Given the description of an element on the screen output the (x, y) to click on. 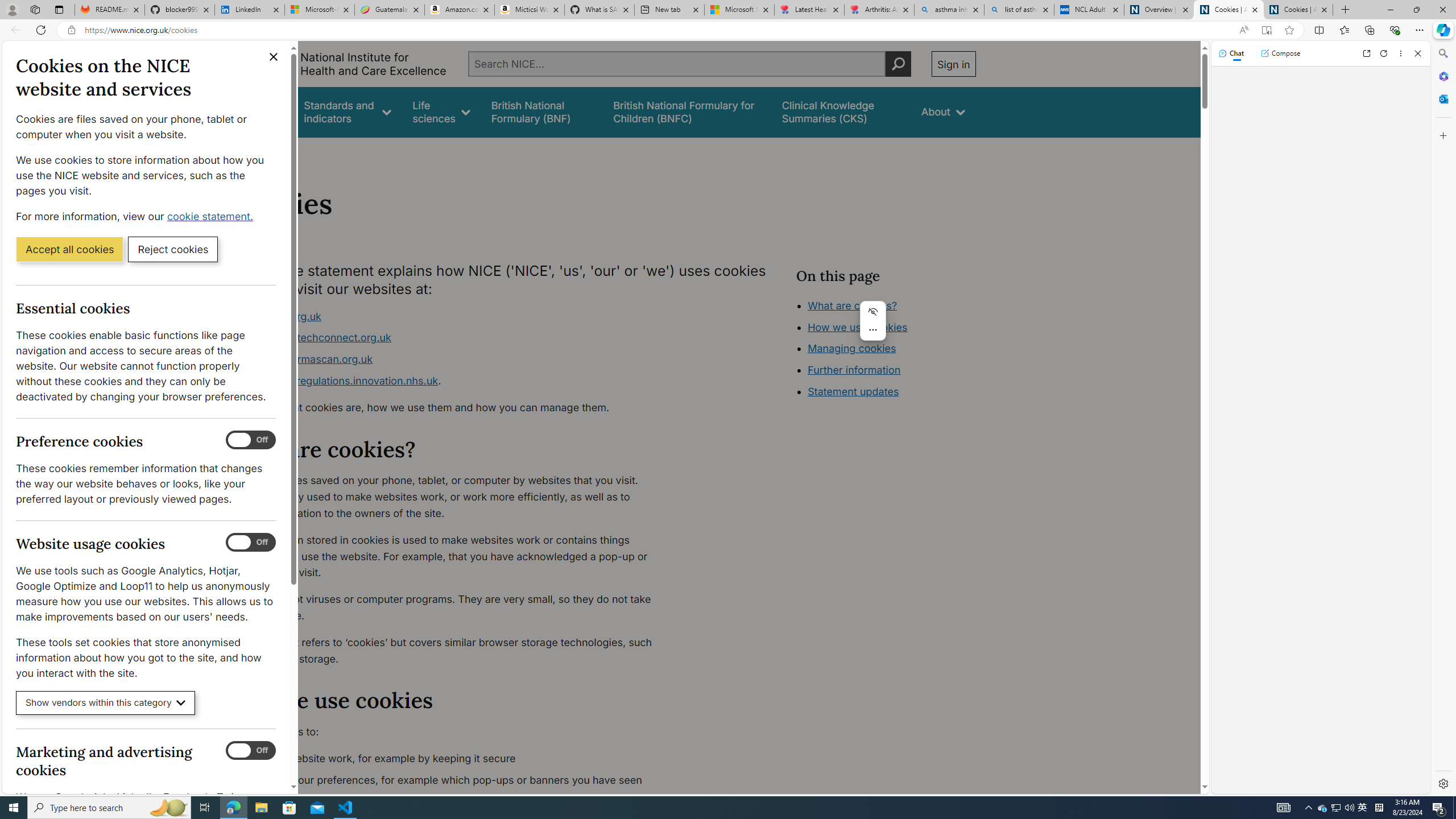
Preference cookies (250, 439)
Life sciences (440, 111)
www.nice.org.uk (279, 315)
Sign in (952, 63)
www.ukpharmascan.org.uk (452, 359)
Cookies | About | NICE (1297, 9)
What are cookies? (852, 305)
About (283, 152)
